Given the description of an element on the screen output the (x, y) to click on. 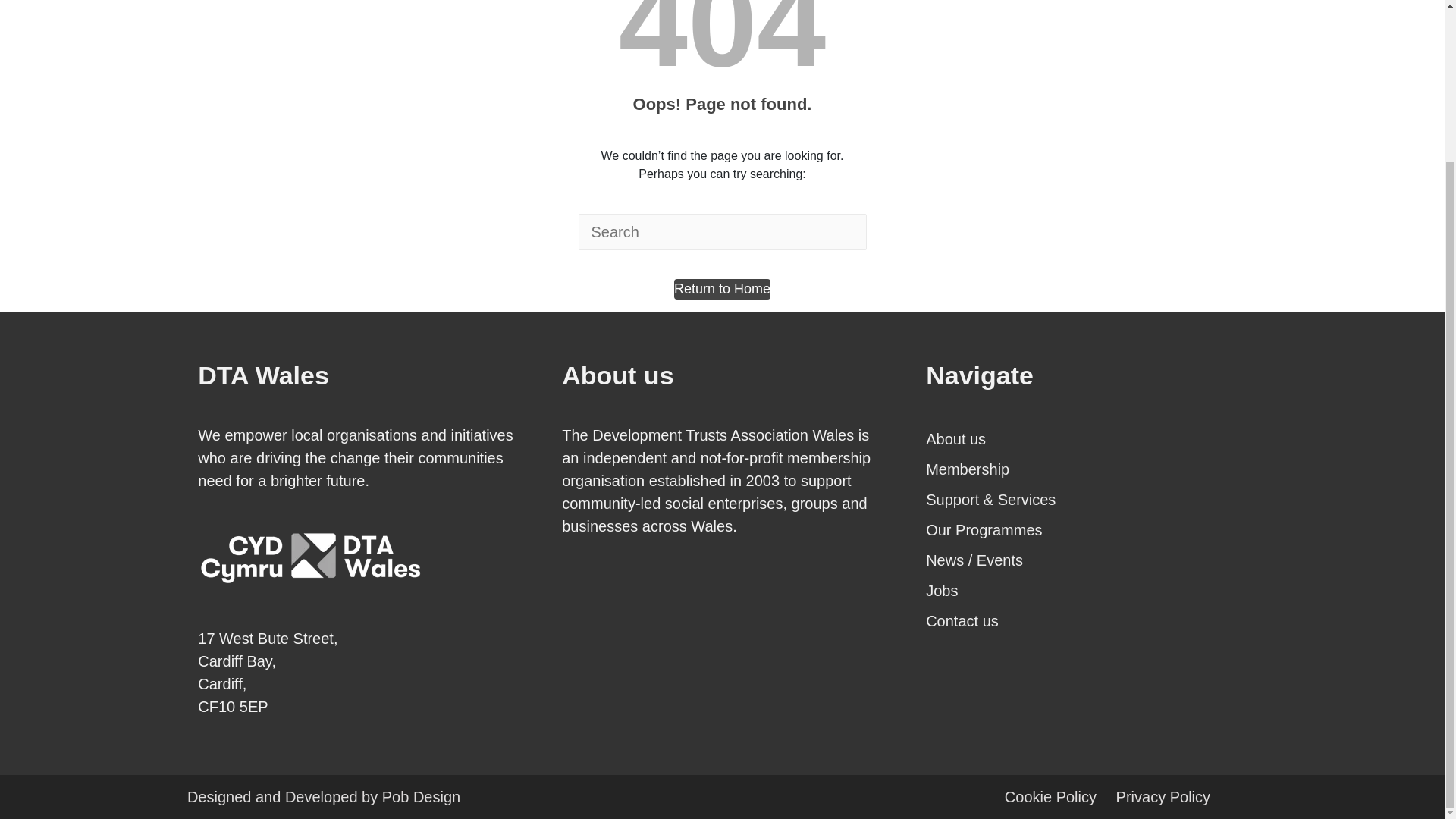
Membership (1086, 469)
Our Programmes (1086, 530)
Designed and Developed by Pob Design (420, 796)
Cookie Policy (1050, 796)
Contact us (1086, 621)
Jobs (1086, 590)
About us (1086, 439)
Return to Home (722, 289)
About us (1086, 439)
Our Programmes (1086, 530)
Jobs (1086, 590)
Membership (1086, 469)
Pob Design (420, 796)
Contact us (1086, 621)
